Given the description of an element on the screen output the (x, y) to click on. 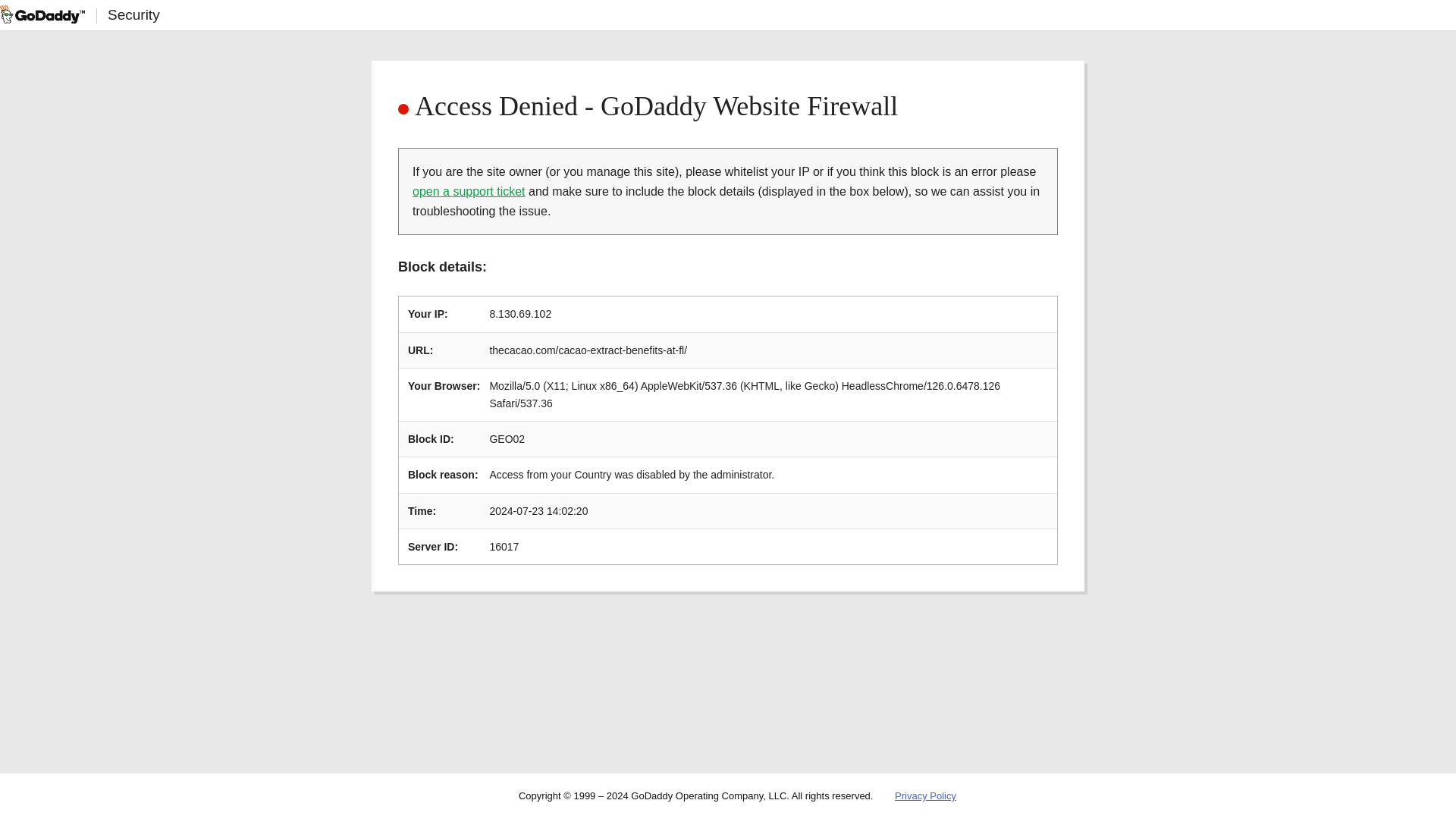
open a support ticket (468, 191)
Privacy Policy (925, 795)
